Given the description of an element on the screen output the (x, y) to click on. 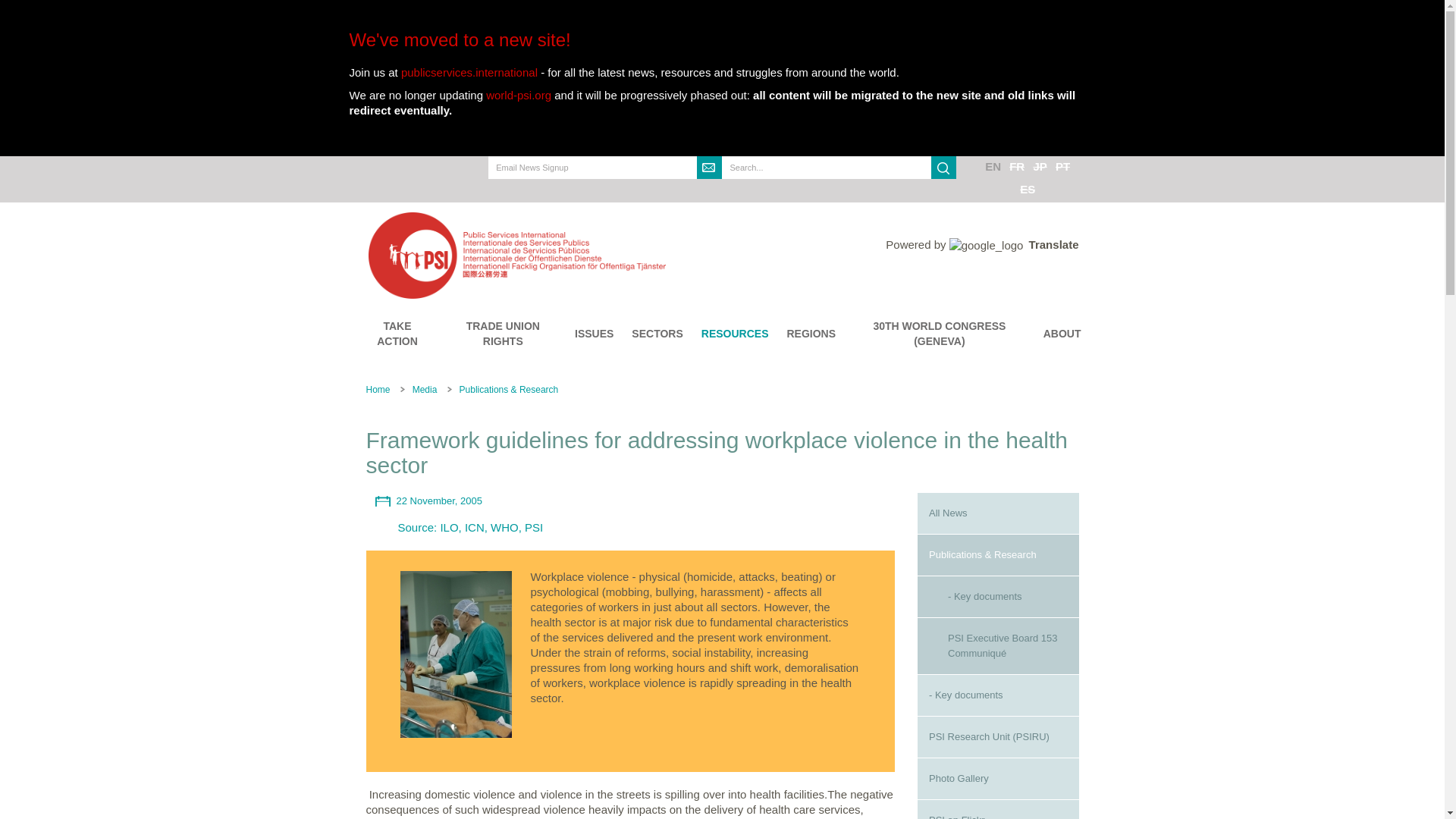
Search (943, 167)
Media (425, 389)
Home (598, 254)
Search (735, 190)
TAKE ACTION (398, 333)
Powered by Translate (981, 244)
Submit (709, 167)
Enter the terms you wish to search for. (826, 167)
world-psi.org (518, 94)
